Given the description of an element on the screen output the (x, y) to click on. 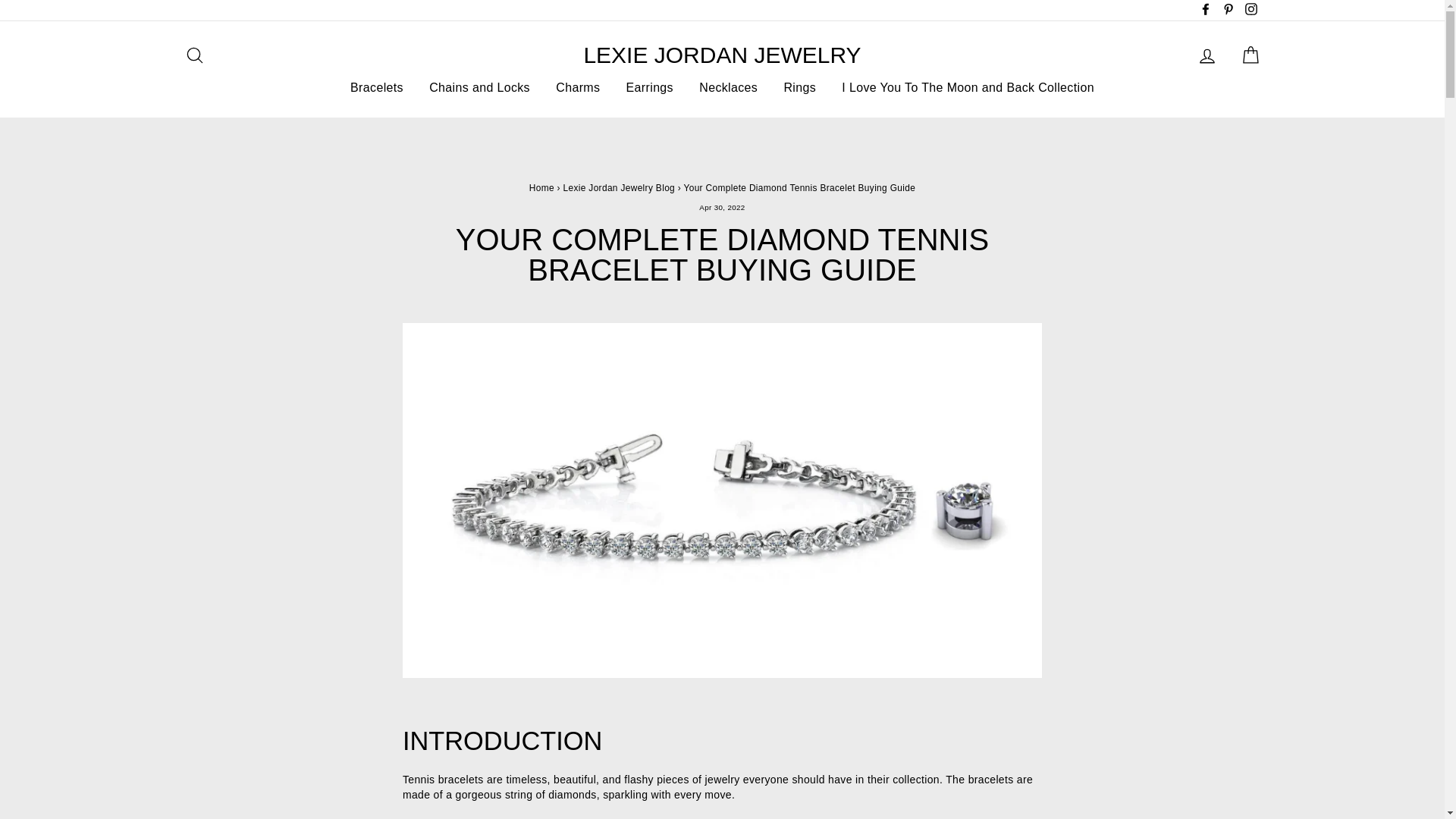
Facebook (1205, 10)
Pinterest (1228, 10)
Instagram (1250, 10)
Chains and Locks (479, 88)
I Love You To The Moon and Back Collection (967, 88)
Home (541, 187)
Cart (1249, 54)
Bracelets (376, 88)
LEXIE JORDAN JEWELRY (721, 55)
